Given the description of an element on the screen output the (x, y) to click on. 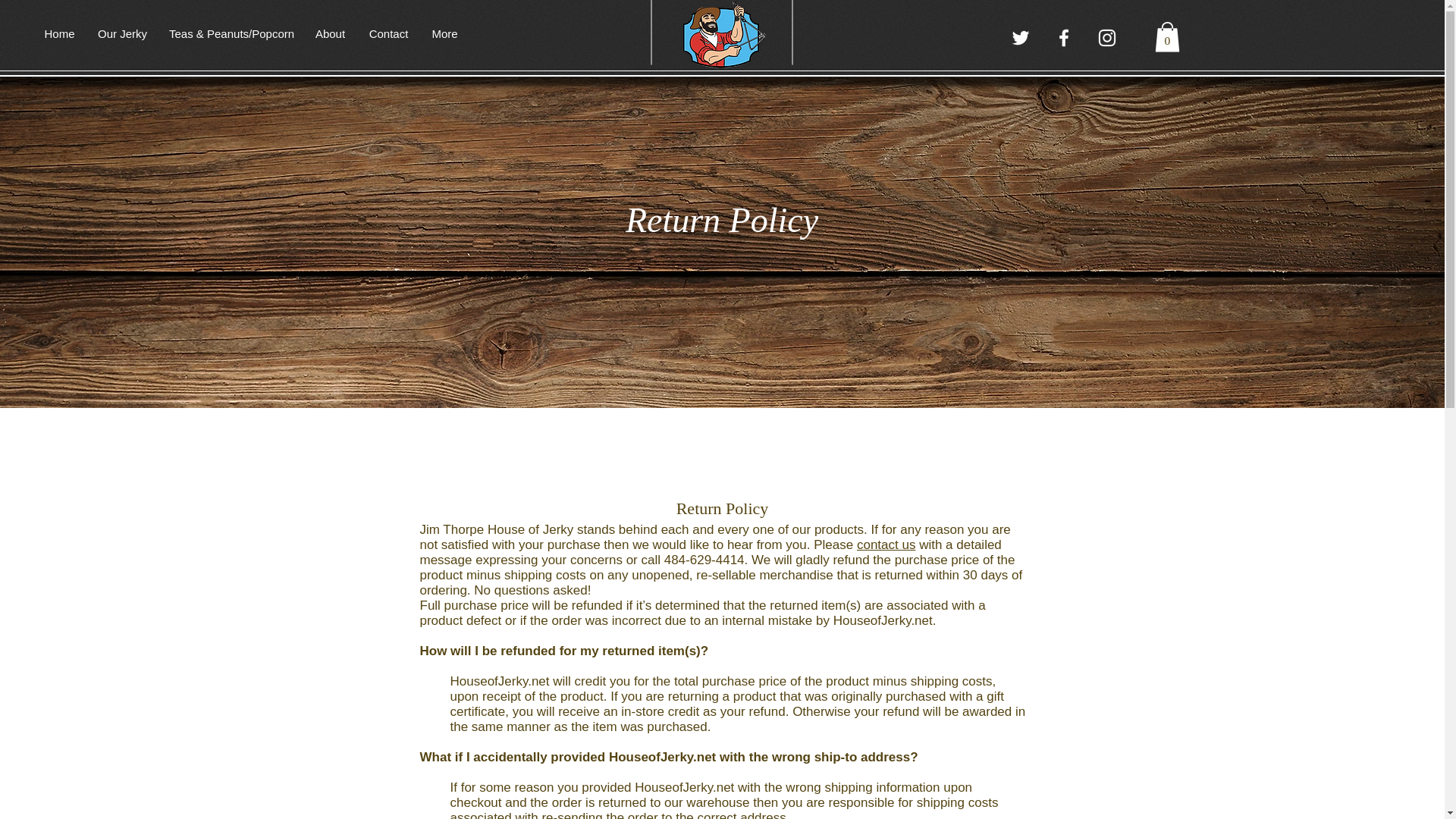
Our Jerky (121, 34)
Home (58, 34)
About (329, 34)
Contact (388, 34)
